Given the description of an element on the screen output the (x, y) to click on. 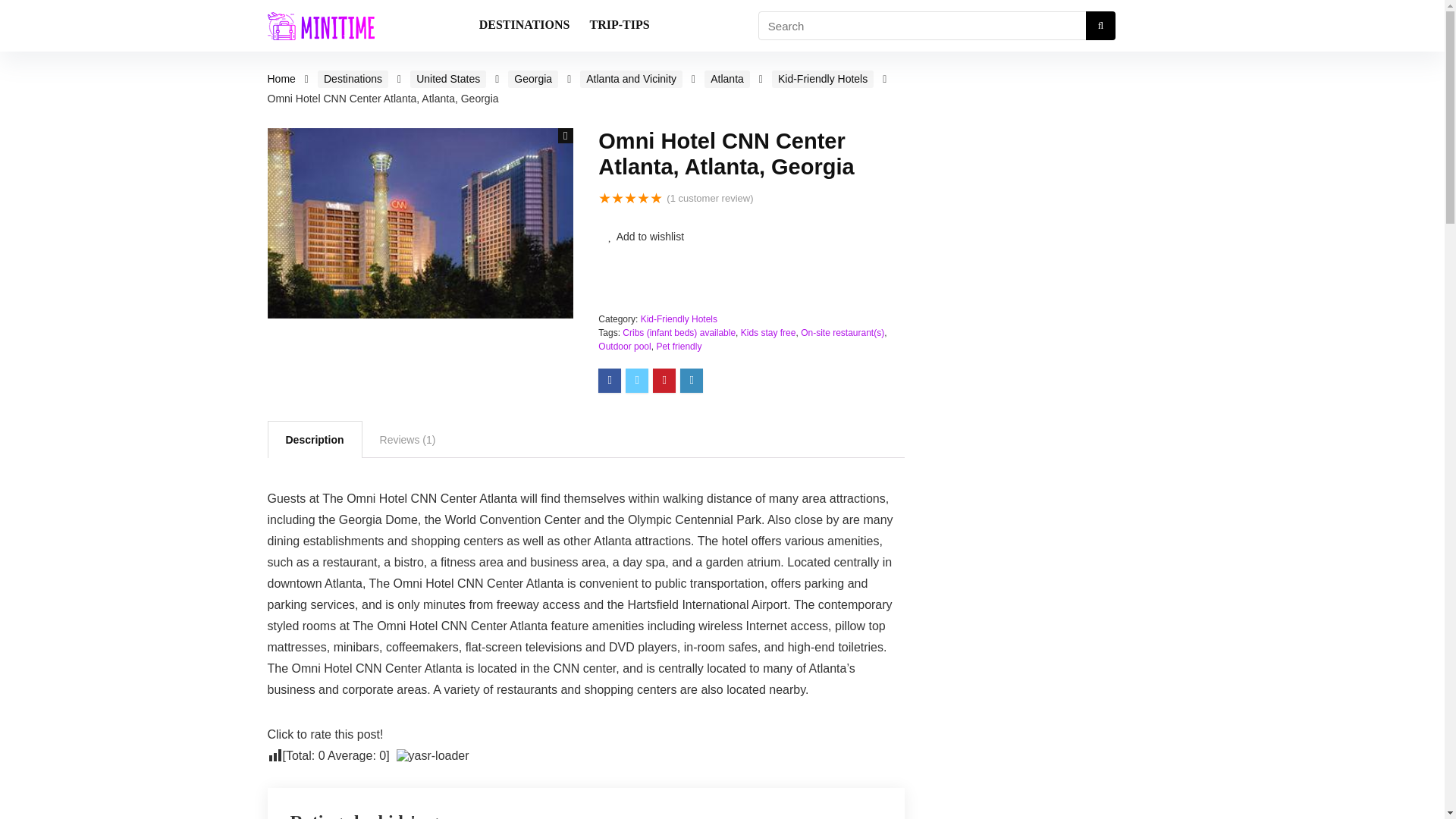
Outdoor pool (624, 346)
Kids stay free (768, 332)
Georgia (532, 78)
Atlanta (726, 78)
TRIP-TIPS (619, 25)
Home (280, 78)
Kid-Friendly Hotels (822, 78)
Atlanta and Vicinity (630, 78)
DESTINATIONS (523, 25)
Kid-Friendly Hotels (678, 318)
yasr-loader (432, 755)
Rated 5 out of 5 (630, 197)
Destinations (352, 78)
United States (448, 78)
